Given the description of an element on the screen output the (x, y) to click on. 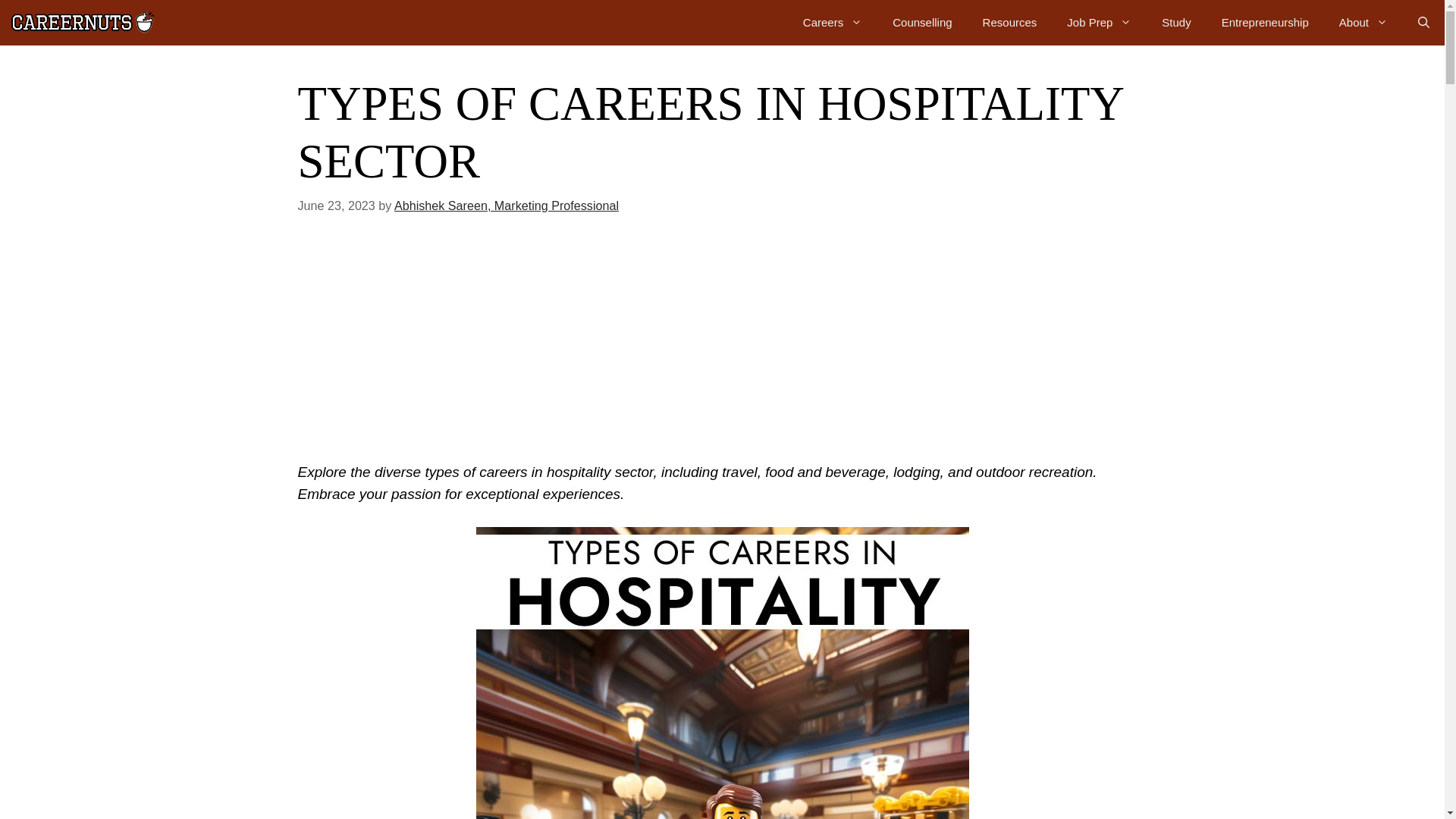
Careers (832, 22)
